Given the description of an element on the screen output the (x, y) to click on. 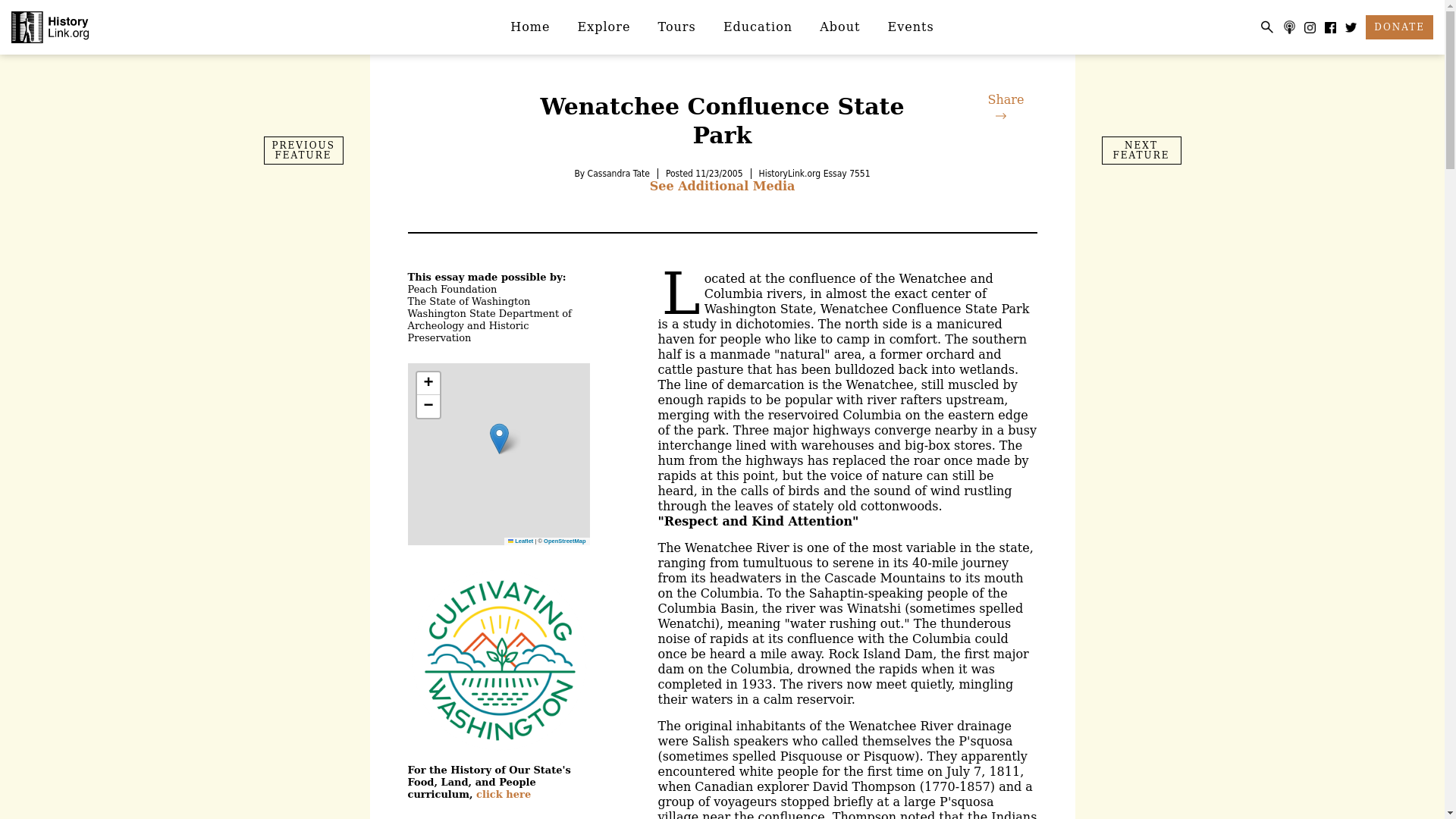
NEXT FEATURE (1140, 150)
Zoom out (427, 405)
Home (529, 26)
Zoom in (427, 383)
PREVIOUS FEATURE (303, 150)
Next File (1140, 150)
A JavaScript library for interactive maps (521, 540)
DONATE (1398, 27)
test (498, 660)
Previous File (303, 150)
